Given the description of an element on the screen output the (x, y) to click on. 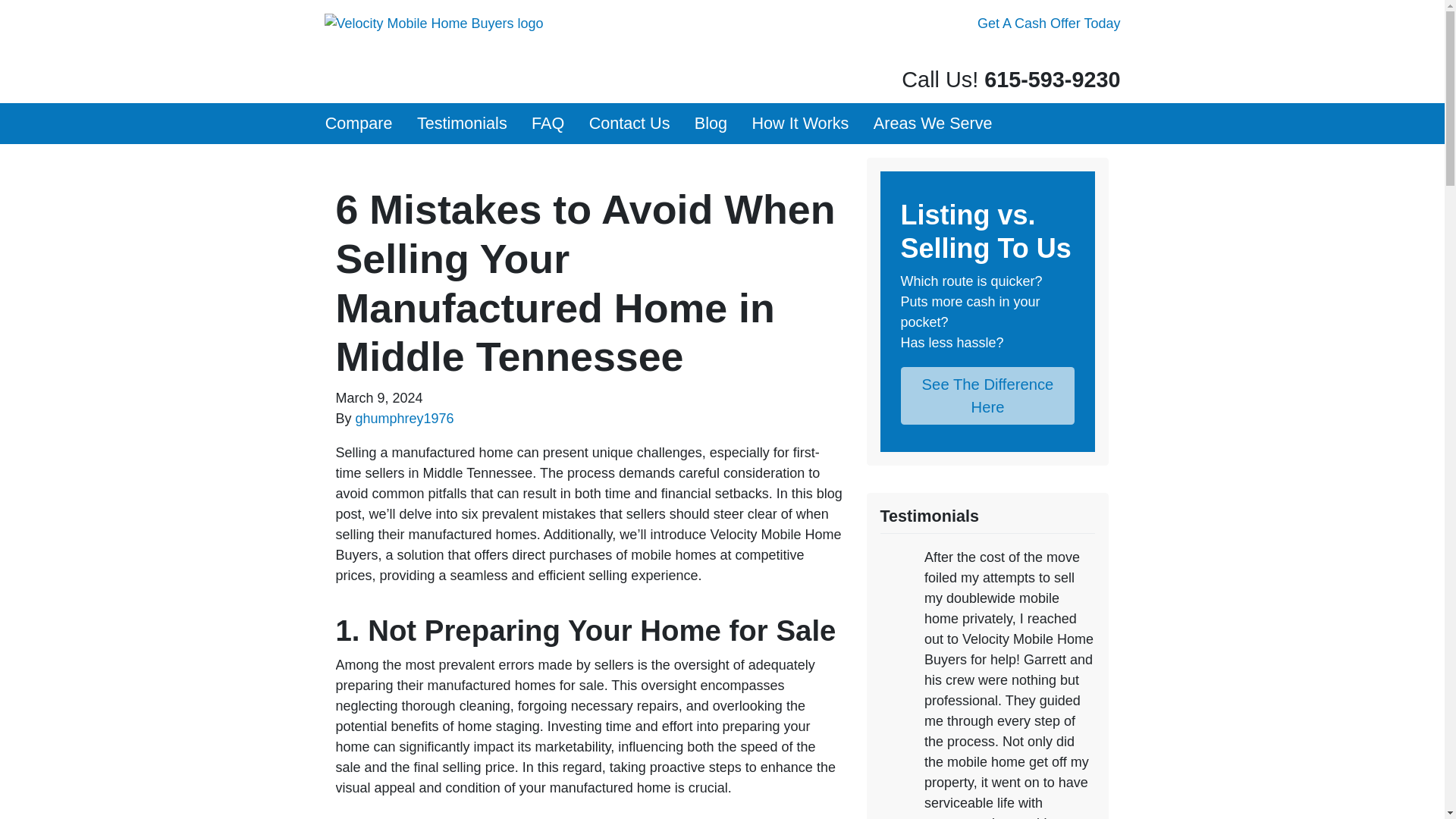
See The Difference Here (988, 395)
Get A Cash Offer Today (1048, 23)
Compare (358, 123)
ghumphrey1976 (404, 418)
Areas We Serve (932, 123)
How It Works (799, 123)
Compare (358, 123)
Facebook (1090, 54)
Contact Us (628, 123)
FAQ (547, 123)
